Given the description of an element on the screen output the (x, y) to click on. 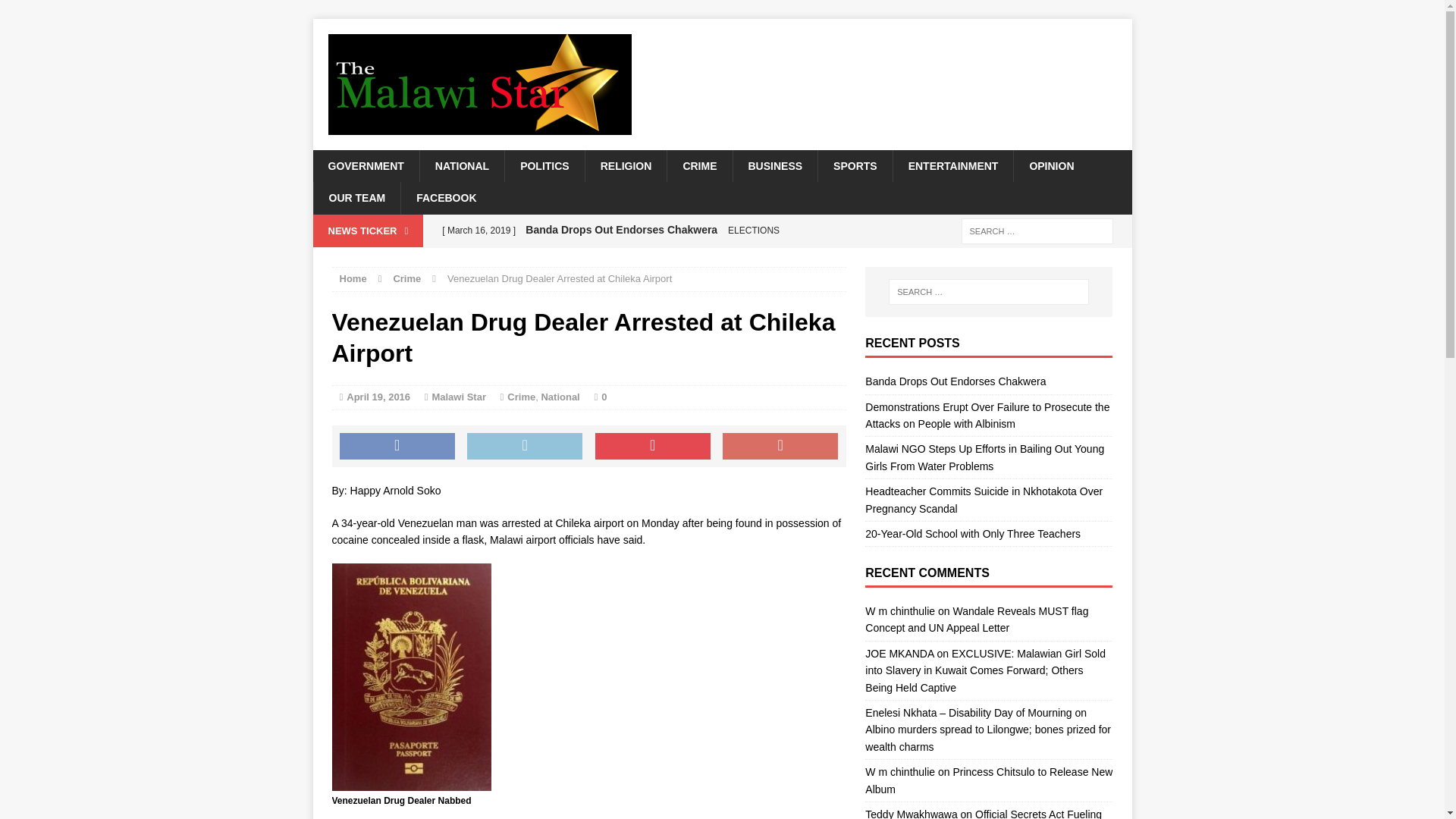
CRIME (699, 165)
OUR TEAM (356, 197)
Tweet This Post (524, 446)
ENTERTAINMENT (952, 165)
Crime (520, 396)
Share on Facebook (396, 446)
NATIONAL (461, 165)
SPORTS (854, 165)
RELIGION (625, 165)
The Malawi Star (722, 83)
Search (37, 11)
Home (352, 278)
Crime (406, 278)
OPINION (1051, 165)
